Given the description of an element on the screen output the (x, y) to click on. 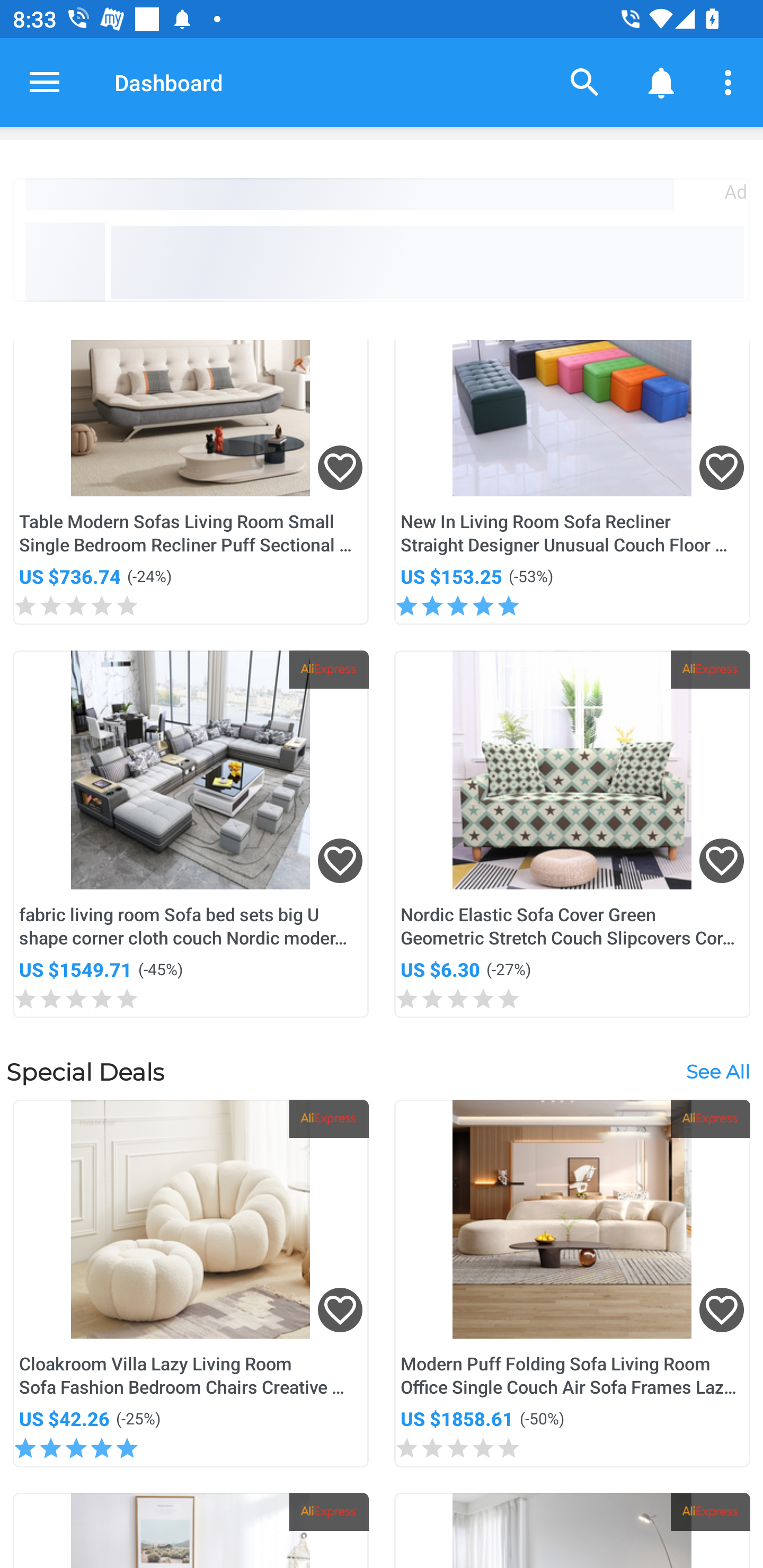
Open navigation drawer (44, 82)
Search (585, 81)
More options (731, 81)
See All (717, 1070)
